Given the description of an element on the screen output the (x, y) to click on. 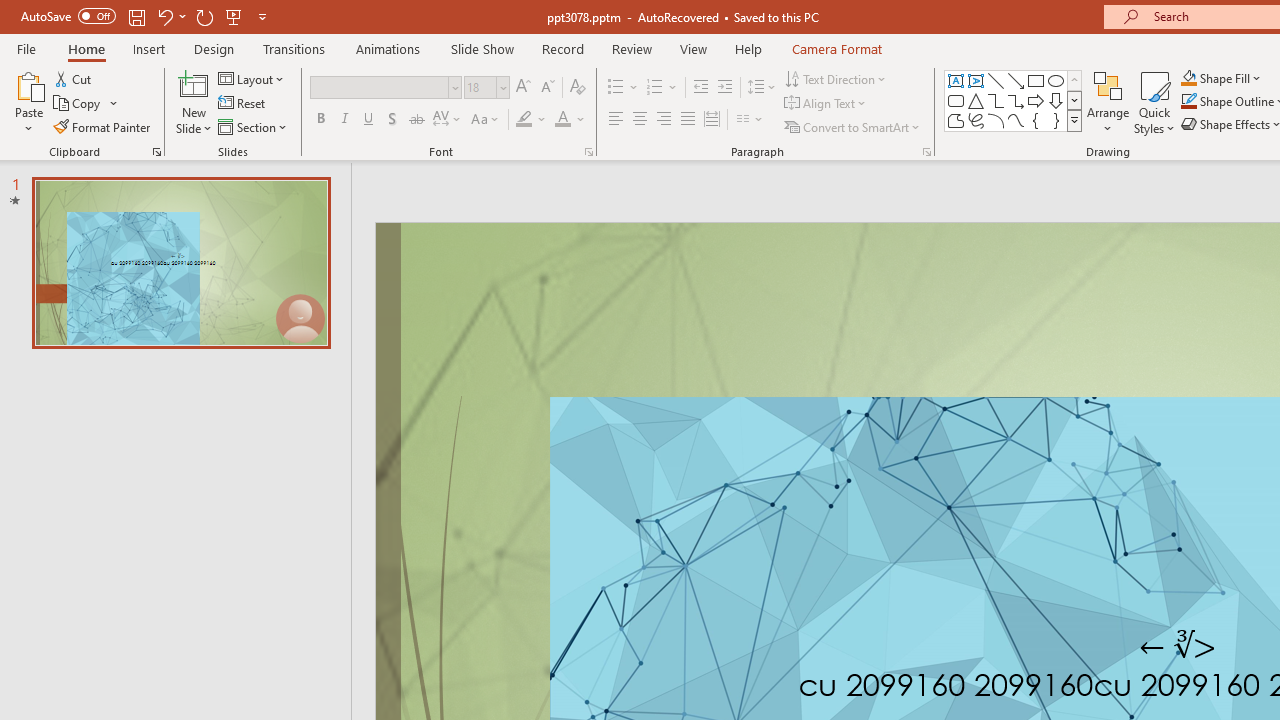
Shape Outline Green, Accent 1 (1188, 101)
